Given the description of an element on the screen output the (x, y) to click on. 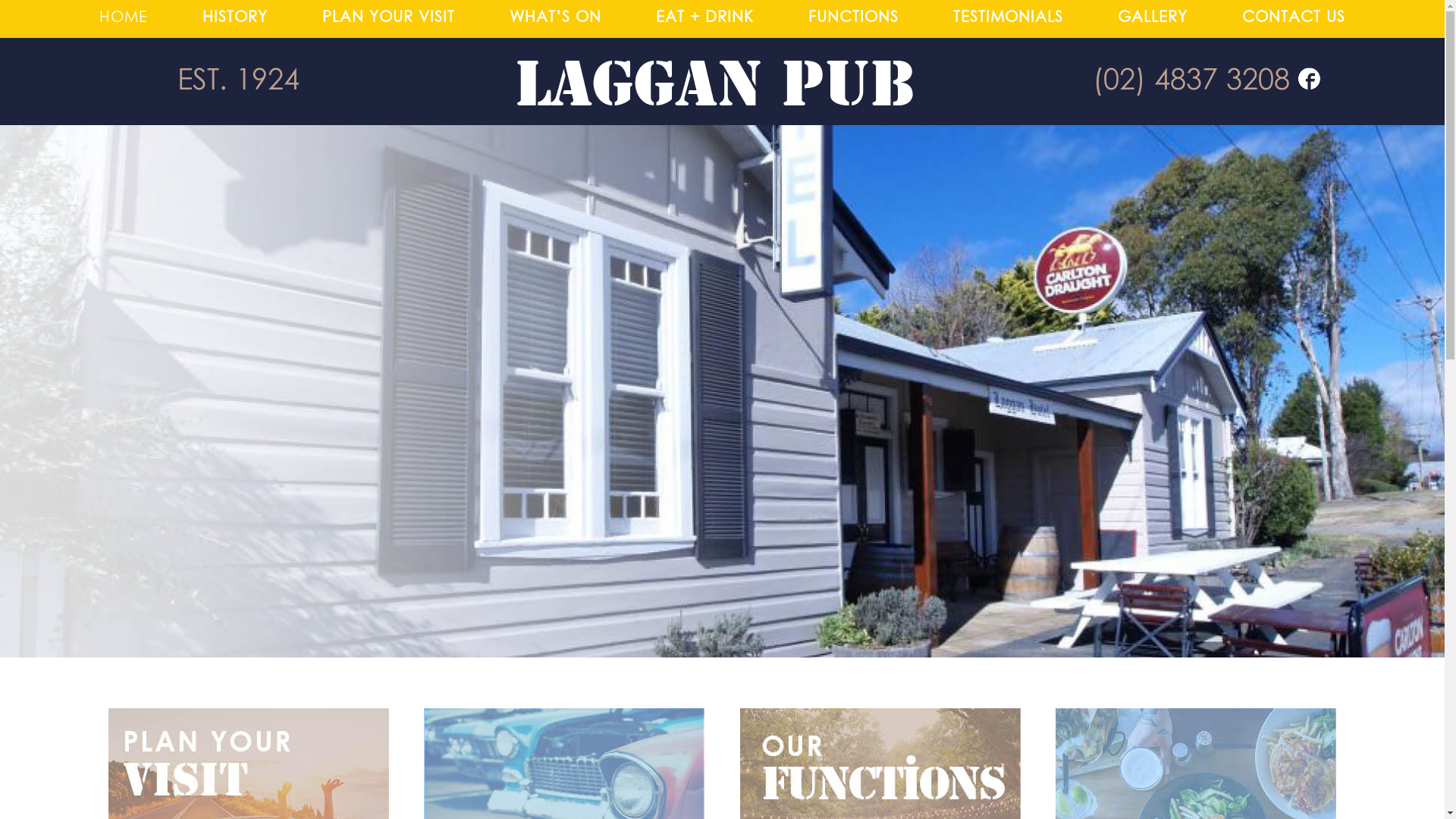
TESTIMONIALS Element type: text (1008, 17)
EAT + DRINK Element type: text (704, 17)
HISTORY Element type: text (234, 17)
CONTACT US Element type: text (1293, 17)
PLAN YOUR VISIT Element type: text (388, 17)
HOME Element type: text (123, 17)
Laggan Pub Element type: text (1191, 64)
FUNCTIONS Element type: text (853, 17)
GALLERY Element type: text (1152, 17)
